Given the description of an element on the screen output the (x, y) to click on. 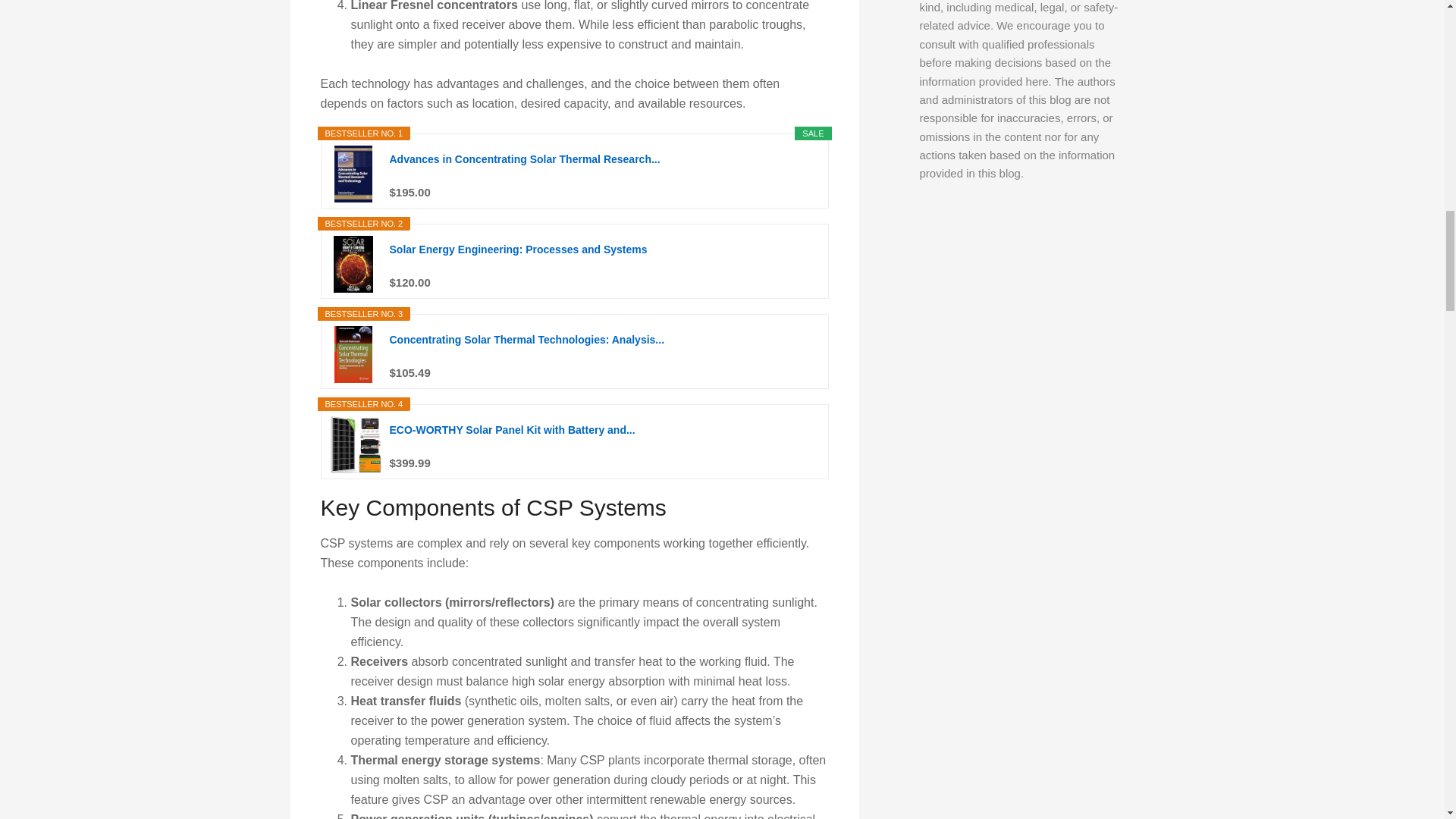
Concentrating Solar Thermal Technologies: Analysis... (603, 347)
Advances in Concentrating Solar Thermal Research... (603, 166)
Solar Energy Engineering: Processes and Systems (603, 256)
ECO-WORTHY Solar Panel Kit with Battery and... (603, 437)
